Given the description of an element on the screen output the (x, y) to click on. 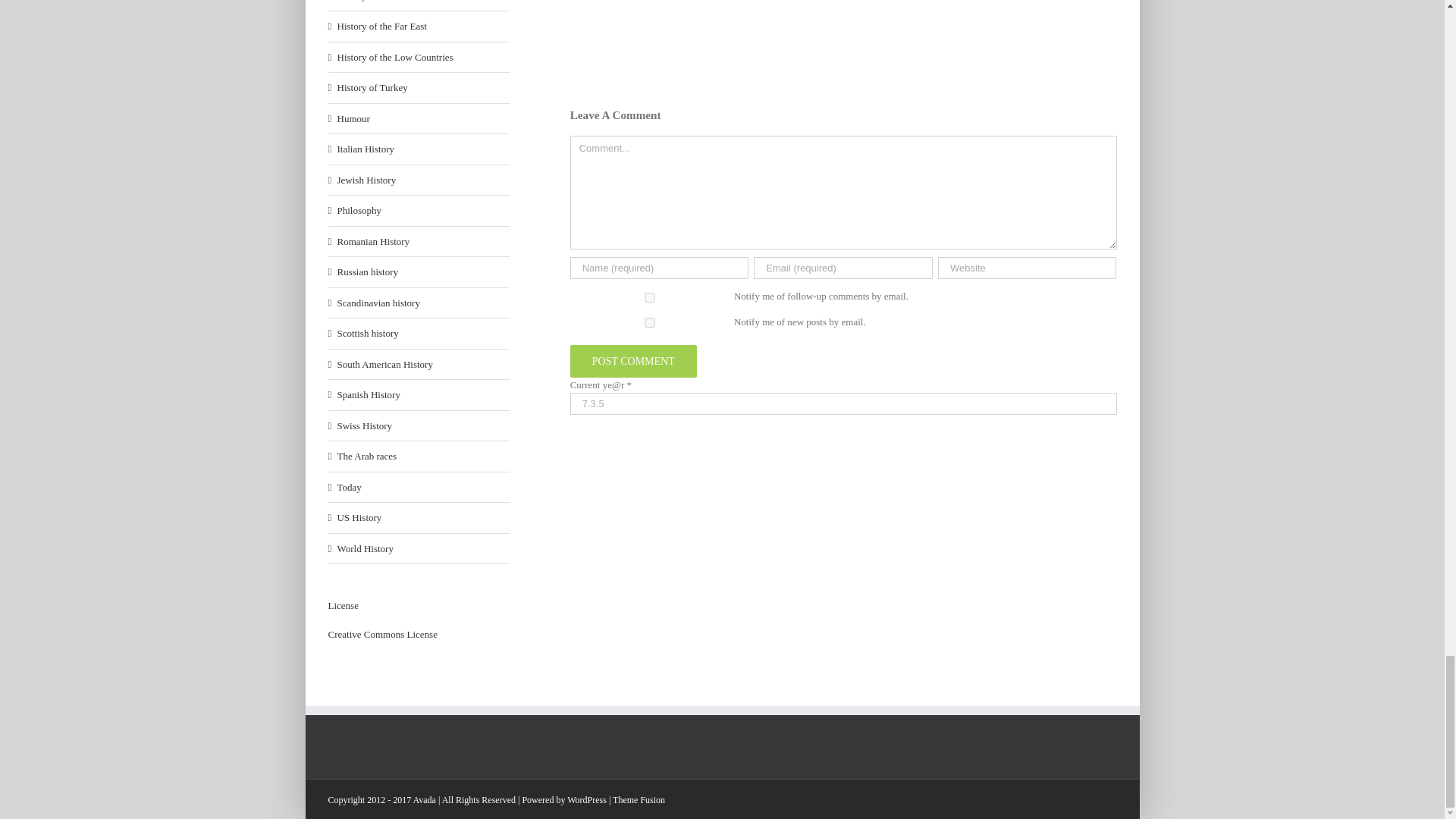
subscribe (649, 297)
subscribe (649, 322)
7.3.5 (843, 403)
License (381, 633)
Post Comment (633, 360)
